Given the description of an element on the screen output the (x, y) to click on. 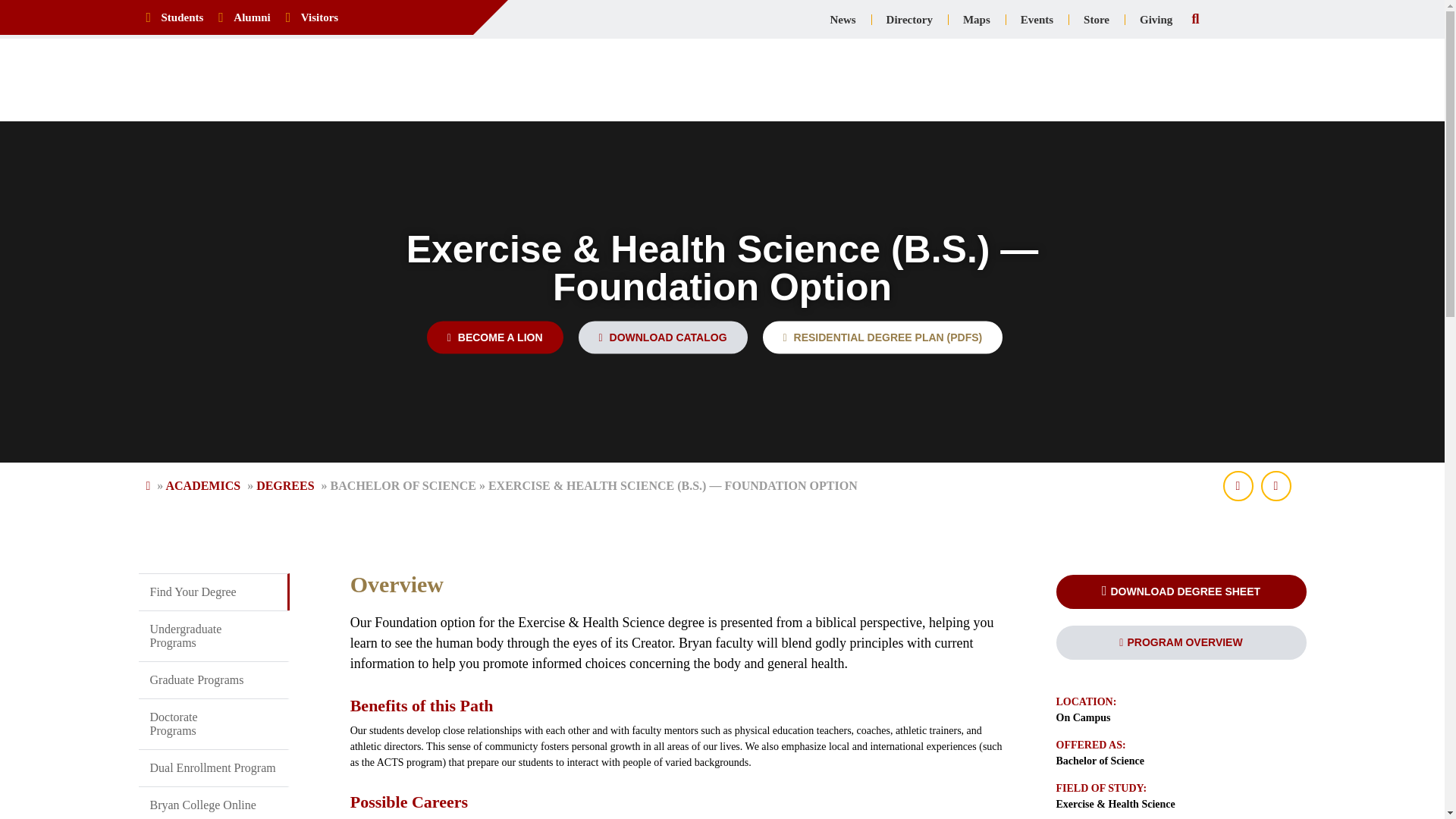
Store (1096, 19)
Download Catalog (663, 337)
Save Page as PDF (1237, 485)
Become a Lion (494, 337)
News (841, 19)
Directory (908, 19)
Giving (1156, 19)
Visitors (319, 17)
Students (181, 17)
Events (1037, 19)
Alumni (251, 17)
Maps (976, 19)
